Given the description of an element on the screen output the (x, y) to click on. 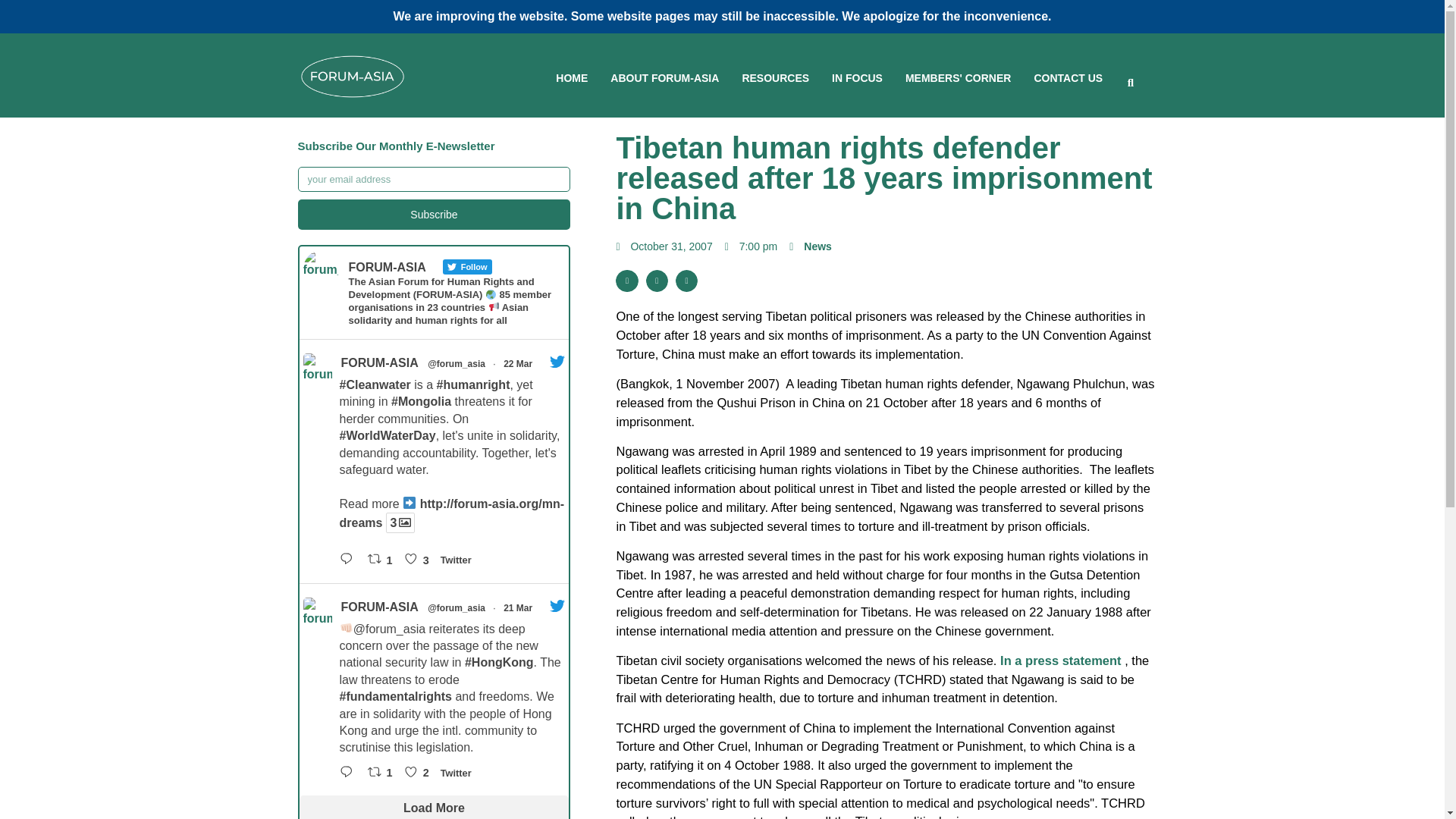
MEMBERS' CORNER (957, 78)
IN FOCUS (856, 78)
ABOUT FORUM-ASIA (664, 78)
RESOURCES (774, 78)
CONTACT US (1067, 78)
HOME (571, 78)
